Given the description of an element on the screen output the (x, y) to click on. 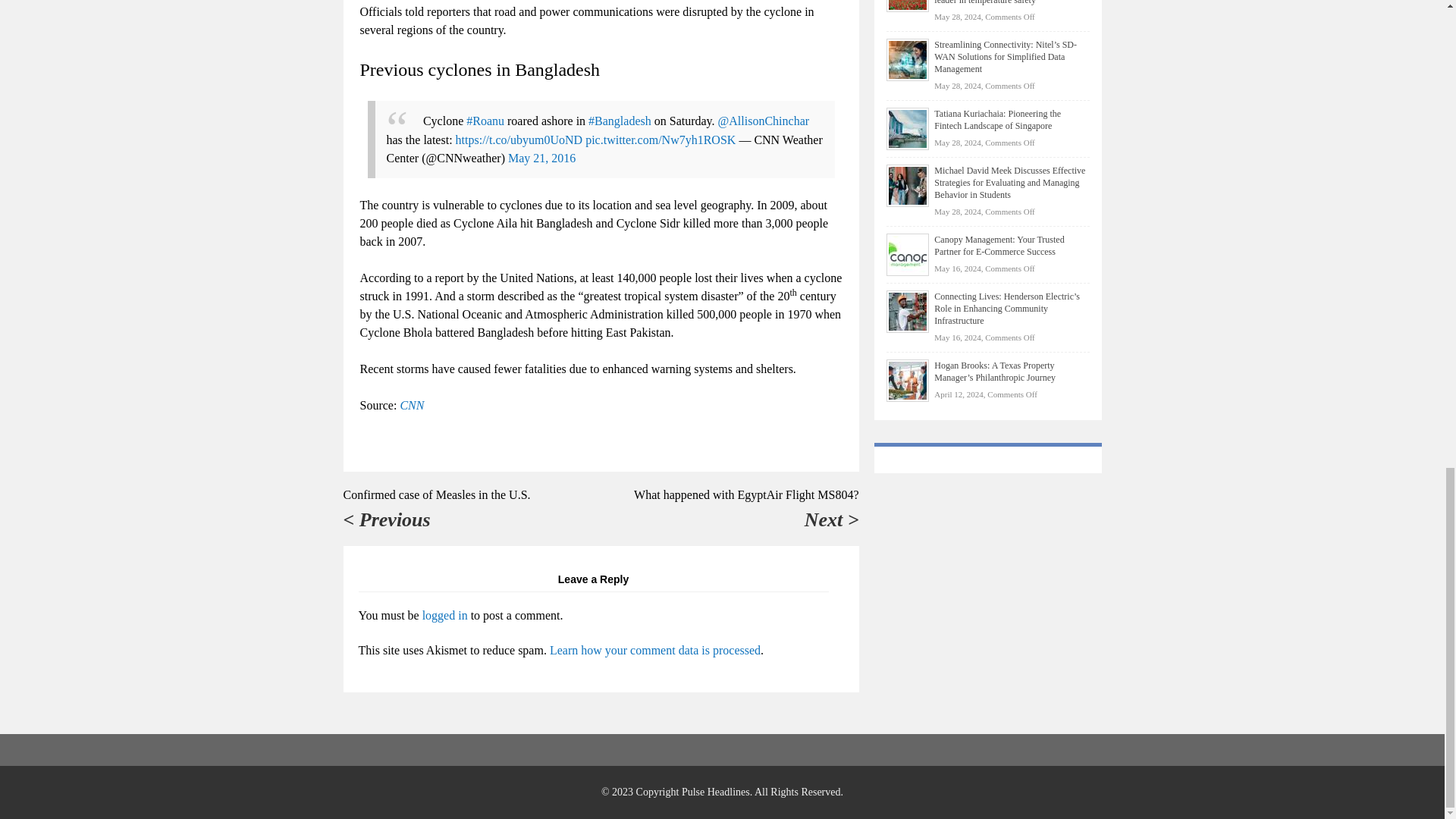
What happened with EgyptAir Flight MS804? (746, 494)
Learn how your comment data is processed (655, 649)
CNN (410, 404)
logged in (444, 614)
Confirmed case of Measles in the U.S. (435, 494)
May 21, 2016 (541, 157)
